Given the description of an element on the screen output the (x, y) to click on. 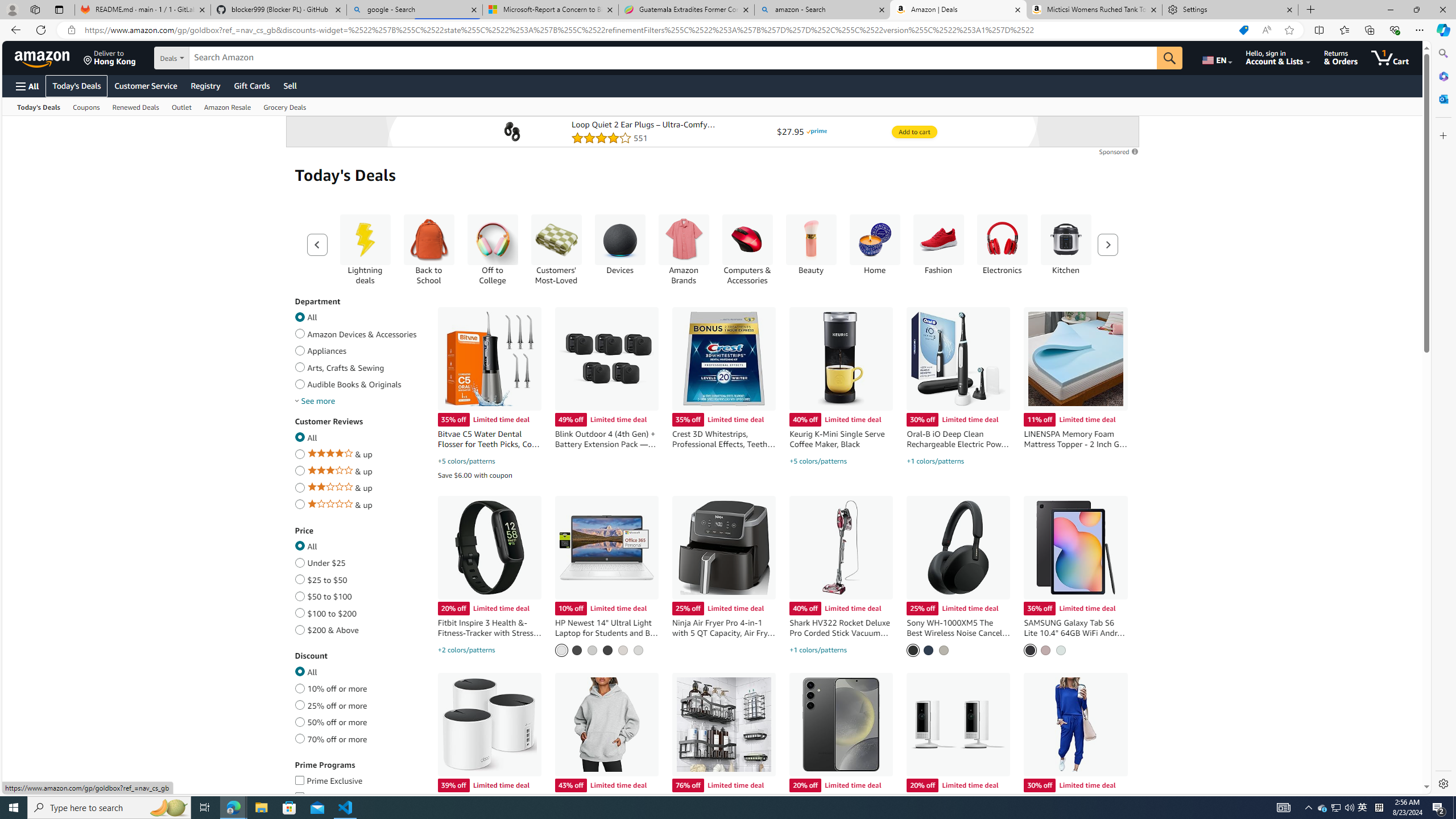
Natural Silver (638, 649)
Returns & Orders (1340, 57)
Lightning deals (364, 249)
Amazon | Deals (957, 9)
4.2 out of 5 stars. (646, 137)
10% off or more (299, 686)
Amazon Resale (227, 106)
+5 colors/patterns (818, 461)
Fashion (937, 239)
Kitchen (1065, 239)
